Given the description of an element on the screen output the (x, y) to click on. 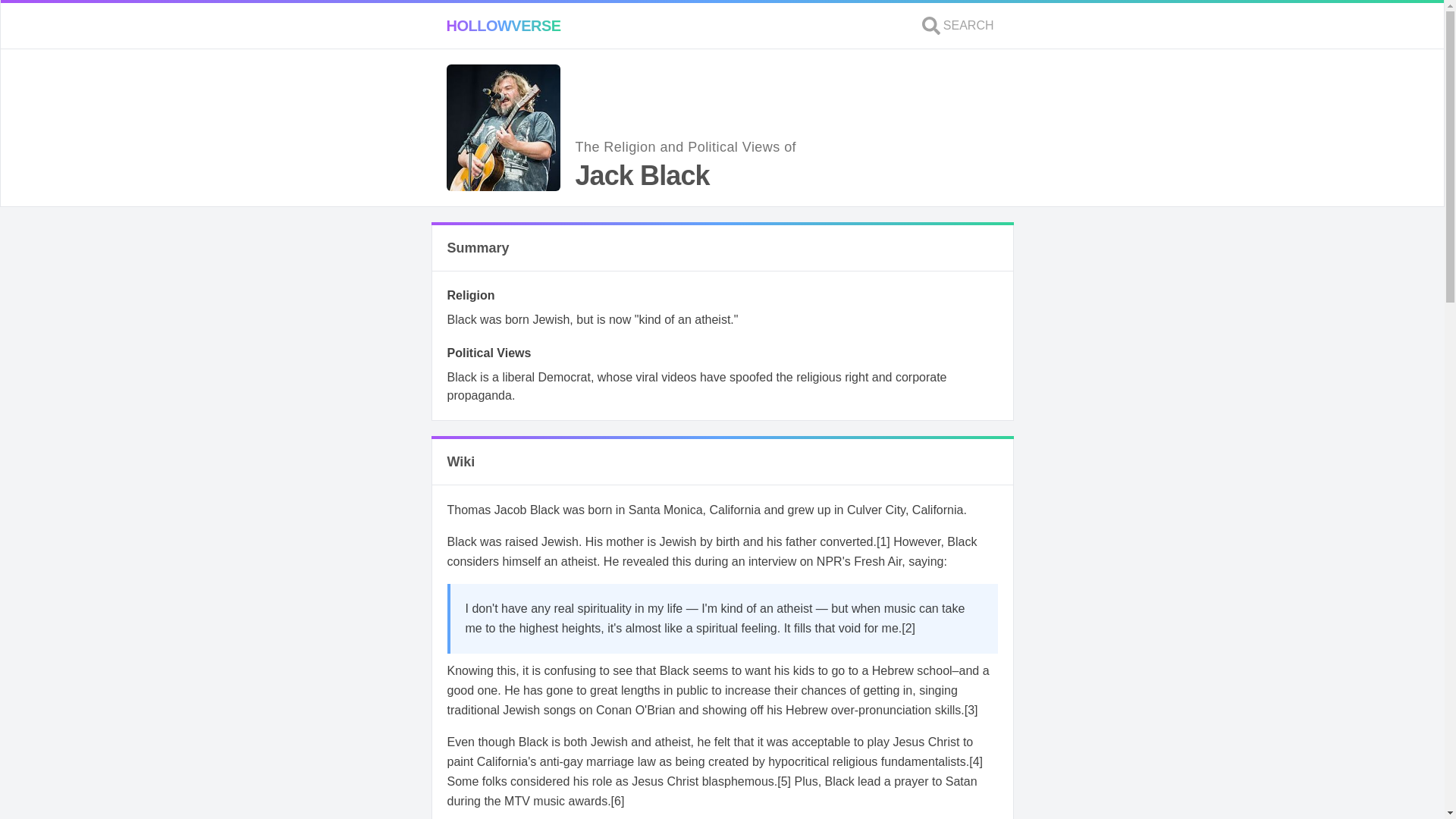
HOLLOWVERSE (502, 25)
Jack Black (882, 541)
Jack Black puts on a Hebrew show (970, 709)
SEARCH (957, 25)
Jack Black: 'I'm Kind of an Atheist (908, 627)
